Given the description of an element on the screen output the (x, y) to click on. 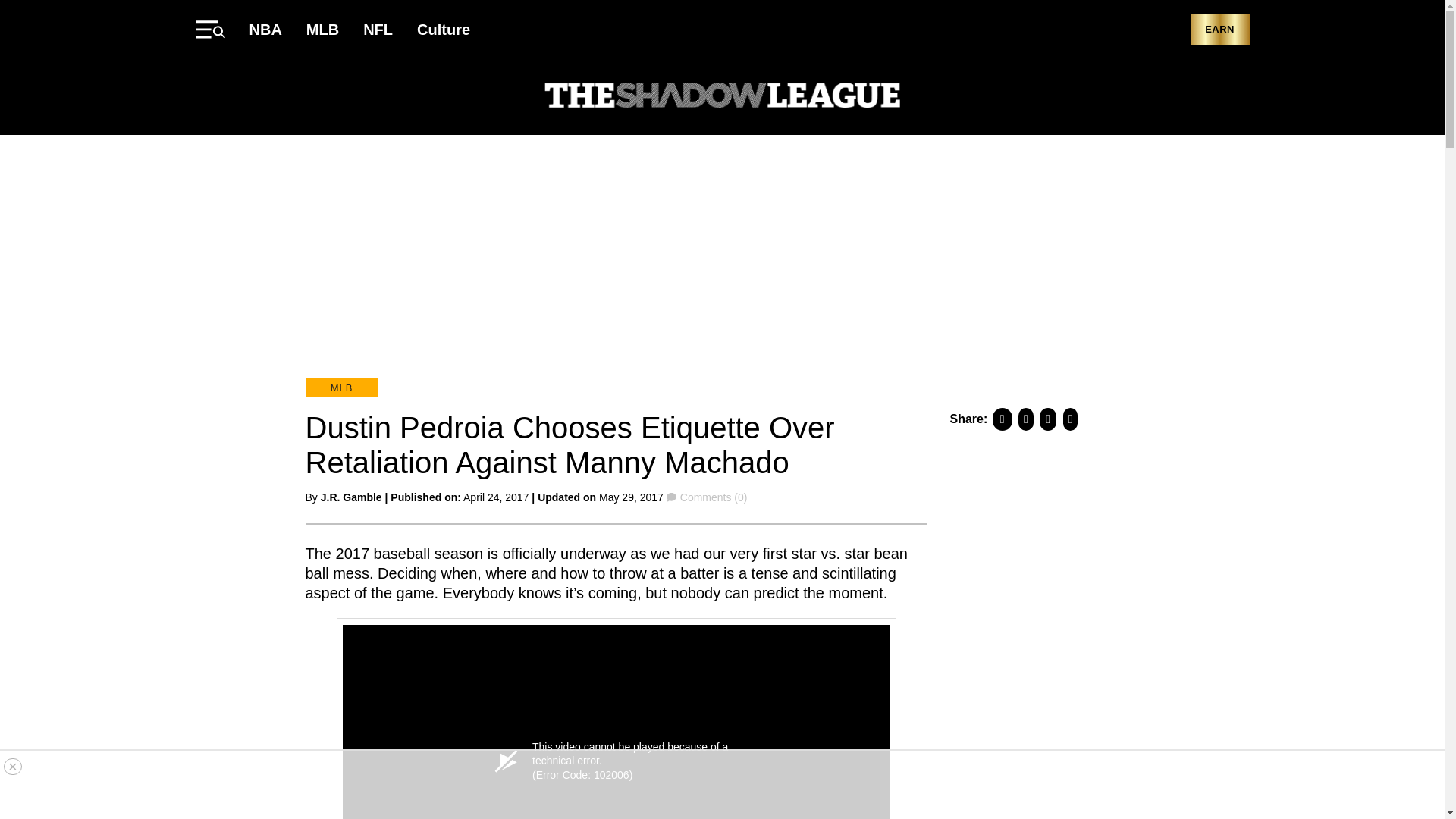
MLB (322, 29)
Culture (443, 29)
J.R. Gamble (350, 497)
MLB (340, 387)
NFL (377, 29)
EARN (1220, 29)
NBA (264, 29)
The Shadow League (721, 96)
